Given the description of an element on the screen output the (x, y) to click on. 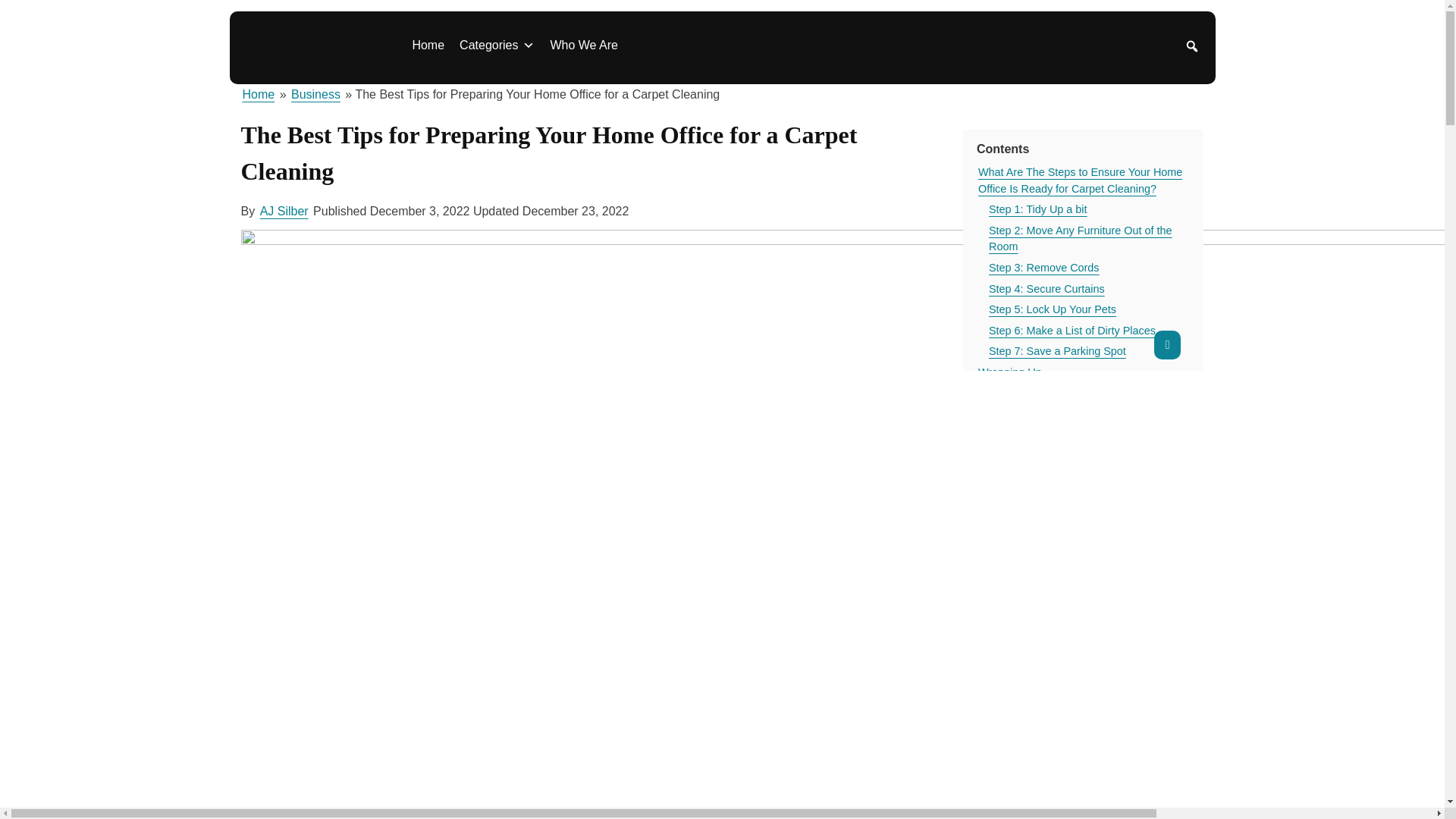
Go to Tweak Your Biz. (258, 94)
Home (258, 94)
Categories (496, 45)
Home (427, 45)
Step 1: Tidy Up a bit (1038, 209)
AJ Silber (284, 210)
Step 4: Secure Curtains (1046, 289)
Step 6: Make a List of Dirty Places (1072, 331)
Step 2: Move Any Furniture Out of the Room (1089, 239)
Step 5: Lock Up Your Pets (1052, 310)
Step 3: Remove Cords (1043, 268)
Go to the Business Category archives. (315, 94)
Business (315, 94)
Who We Are (583, 45)
